Given the description of an element on the screen output the (x, y) to click on. 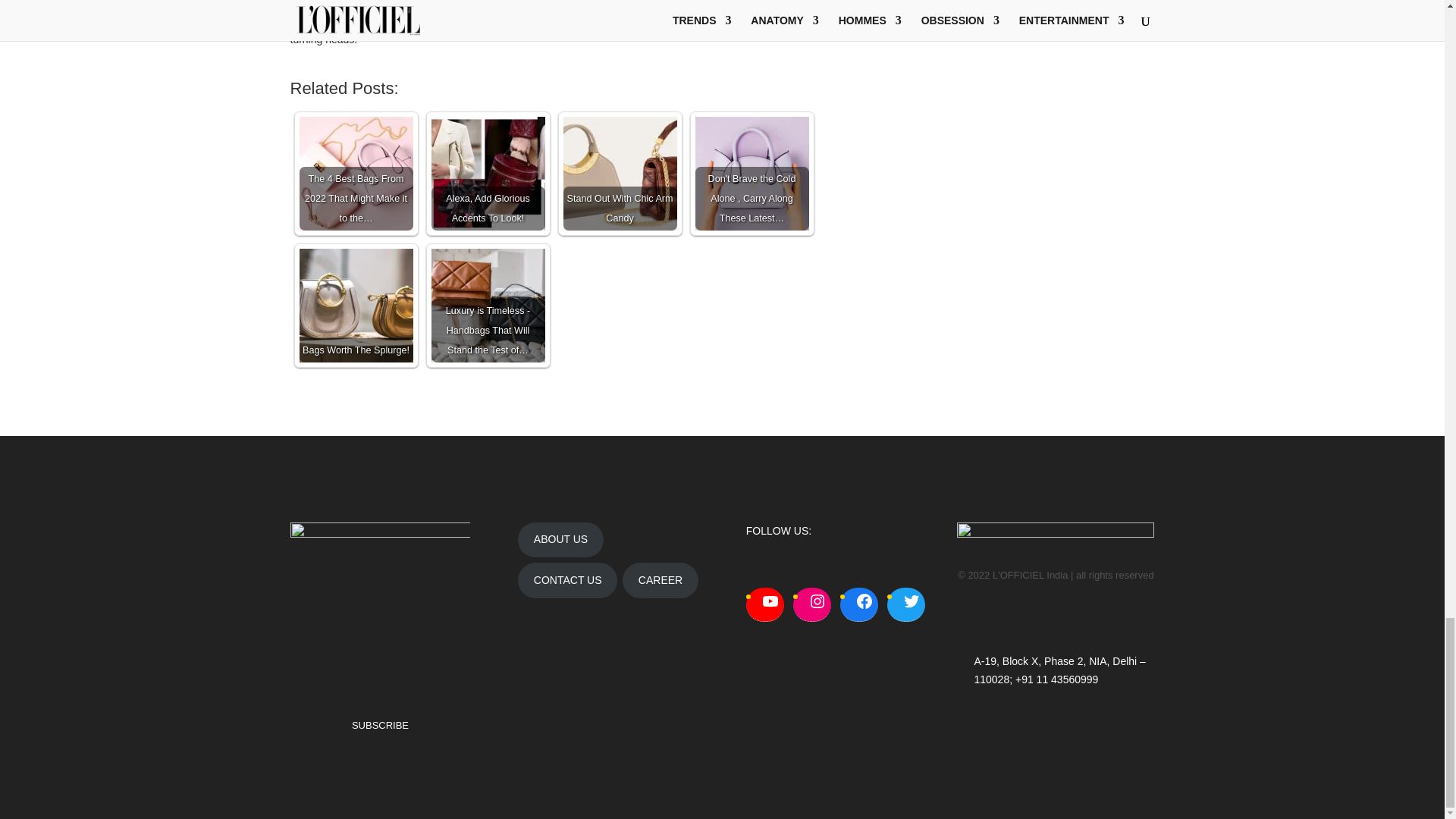
Bags Worth The Splurge! (355, 305)
Stand Out With Chic Arm Candy (619, 173)
Alexa, Add Glorious Accents To Look! (487, 173)
